Given the description of an element on the screen output the (x, y) to click on. 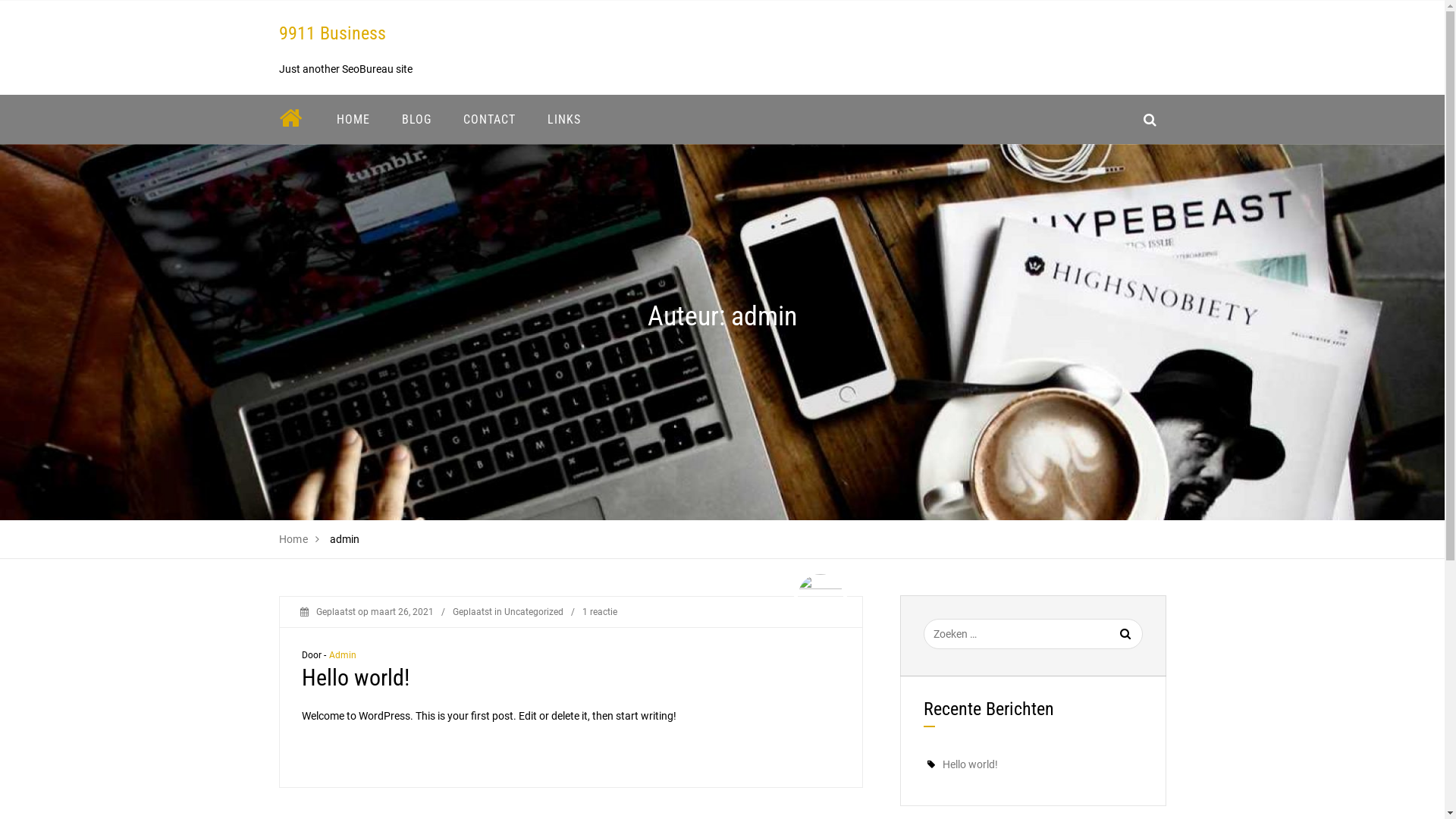
Hello world! Element type: text (355, 677)
Admin Element type: text (343, 654)
Uncategorized Element type: text (532, 611)
LINKS Element type: text (562, 119)
BLOG Element type: text (415, 119)
Hello world! Element type: text (969, 764)
CONTACT Element type: text (489, 119)
HOME Element type: text (352, 119)
1 reactie
op Hello world! Element type: text (599, 611)
Home Element type: text (293, 539)
Zoeken Element type: text (1107, 642)
9911 Business Element type: text (332, 32)
search_icon Element type: hover (1148, 119)
